Given the description of an element on the screen output the (x, y) to click on. 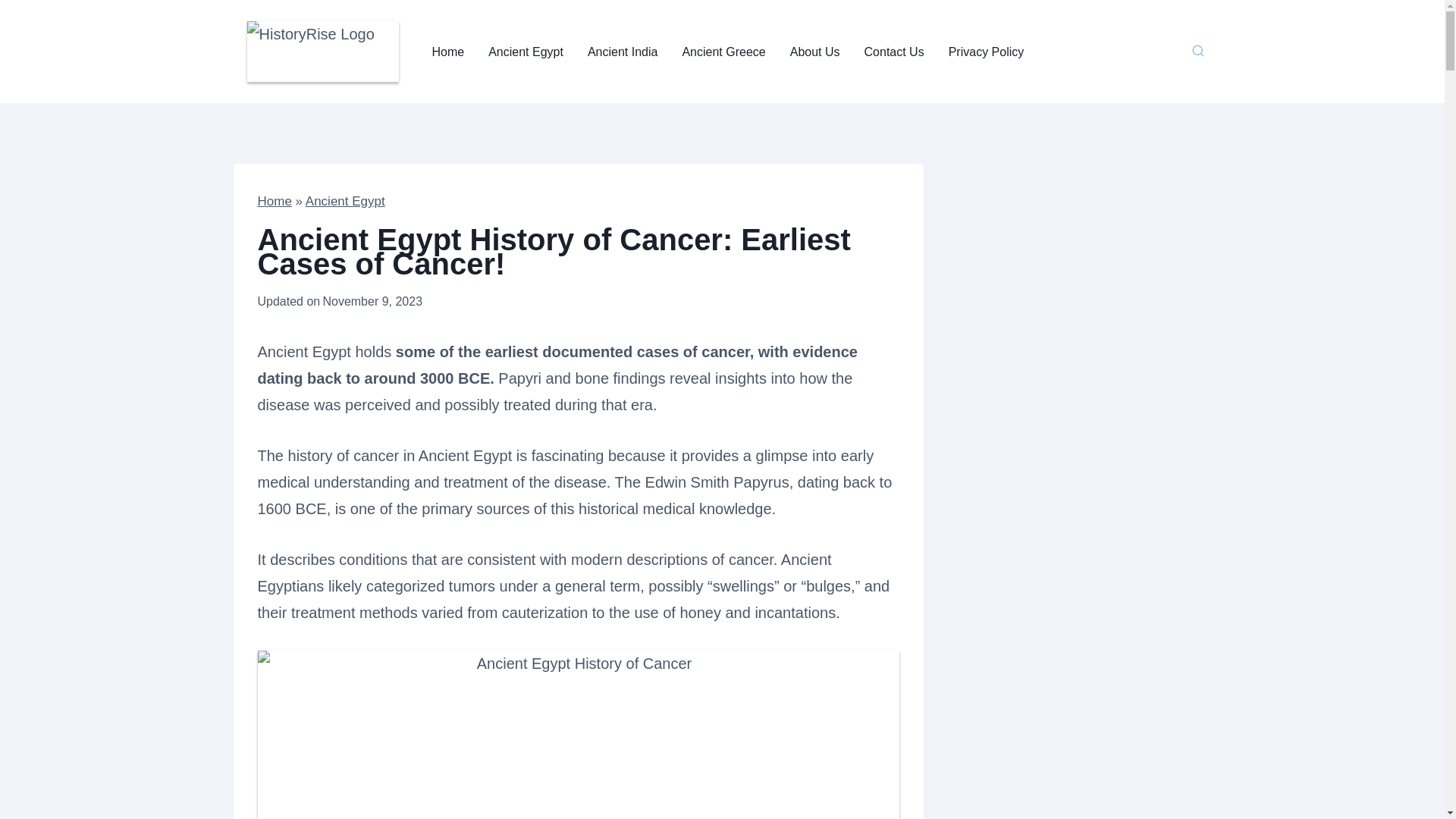
Ancient Egypt (345, 201)
About Us (814, 51)
Home (448, 51)
Home (274, 201)
Ancient India (622, 51)
Privacy Policy (986, 51)
Ancient Egypt (525, 51)
Ancient Greece (723, 51)
Contact Us (893, 51)
